Given the description of an element on the screen output the (x, y) to click on. 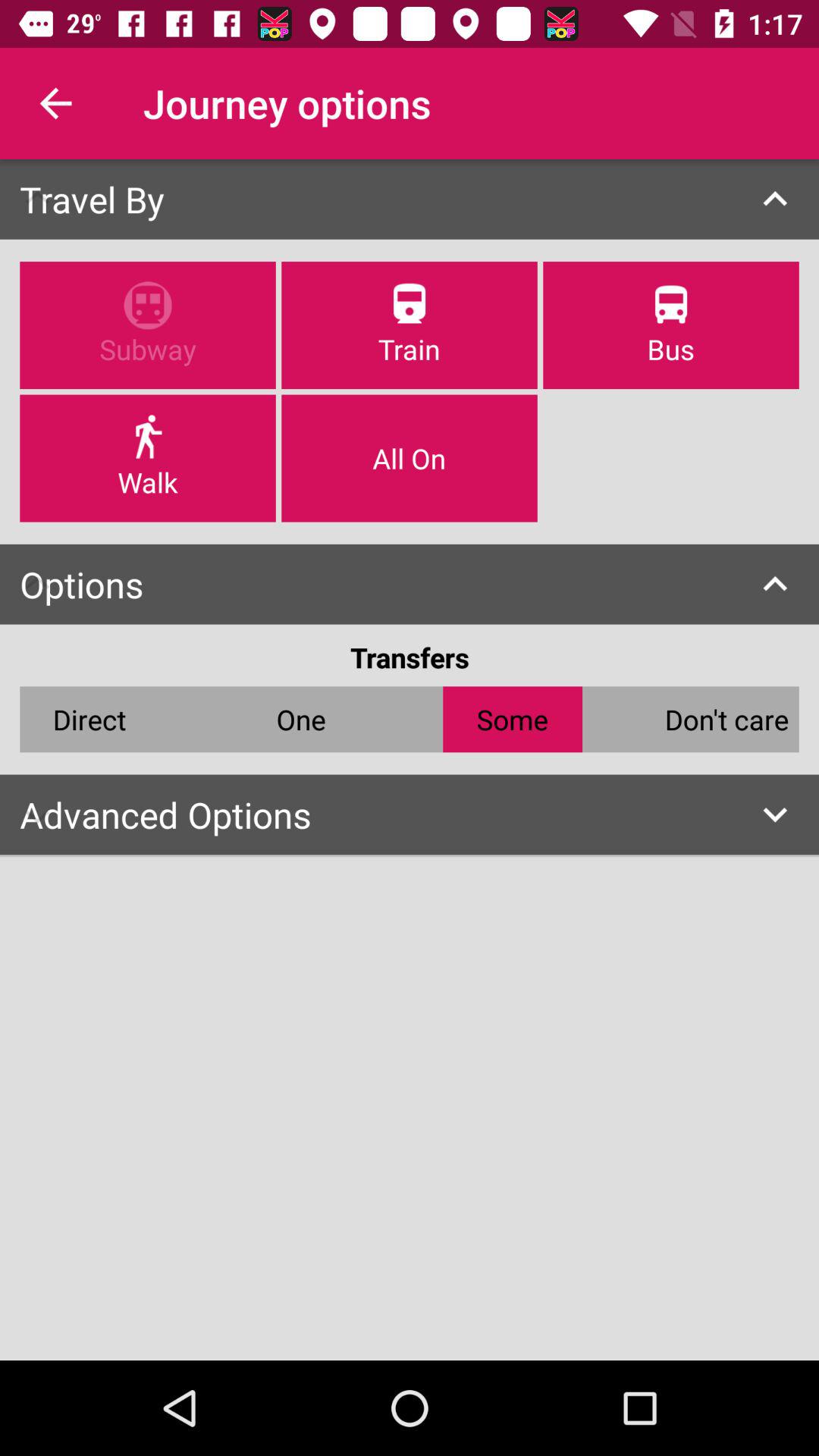
tap icon below transfers icon (726, 719)
